Given the description of an element on the screen output the (x, y) to click on. 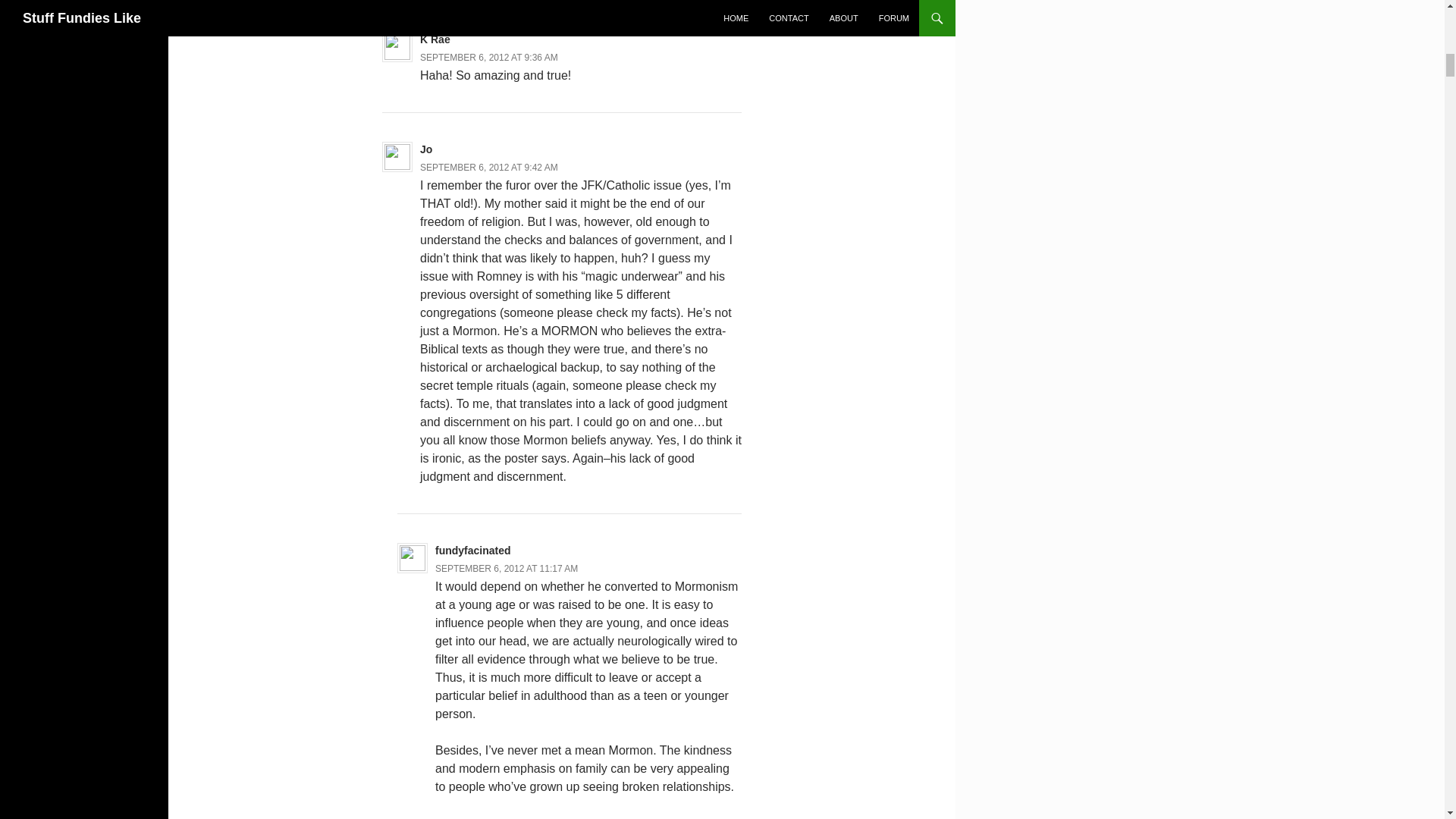
SEPTEMBER 6, 2012 AT 9:36 AM (488, 57)
SEPTEMBER 6, 2012 AT 11:17 AM (506, 568)
SEPTEMBER 6, 2012 AT 9:42 AM (488, 167)
